Given the description of an element on the screen output the (x, y) to click on. 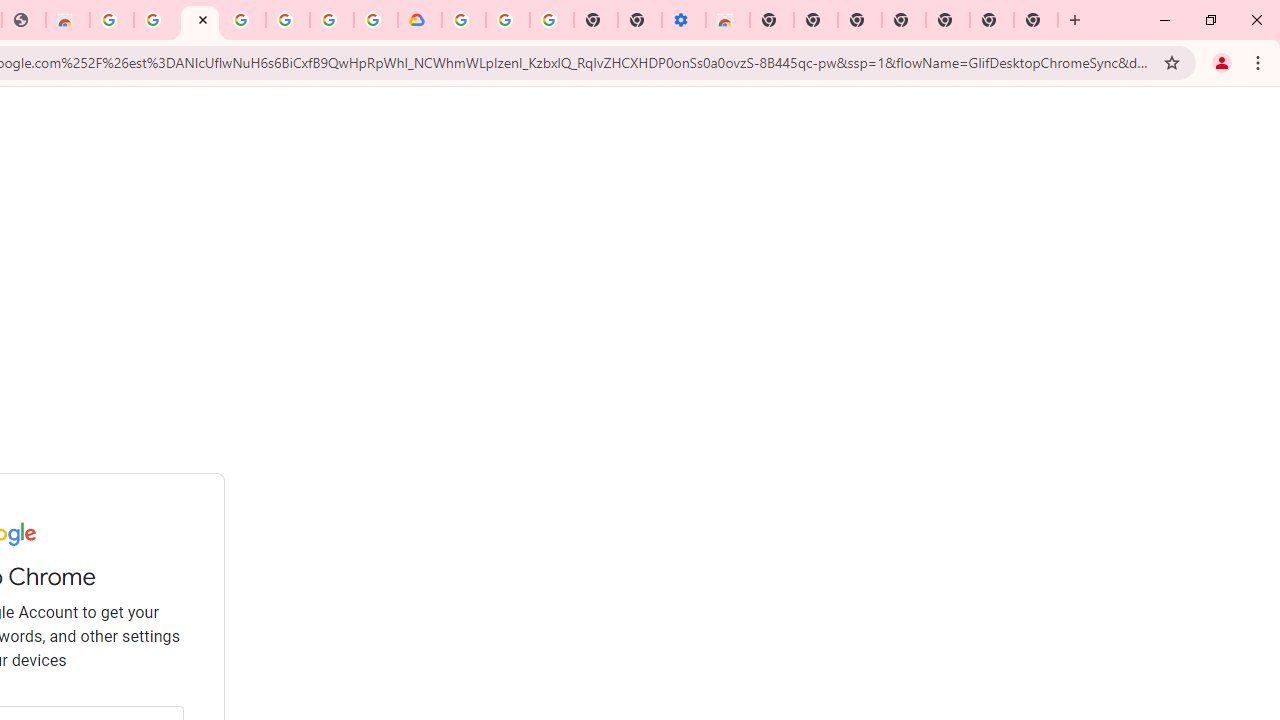
Sign in - Google Accounts (463, 20)
Chrome Web Store - Household (67, 20)
Sign in - Google Accounts (331, 20)
Ad Settings (155, 20)
